Given the description of an element on the screen output the (x, y) to click on. 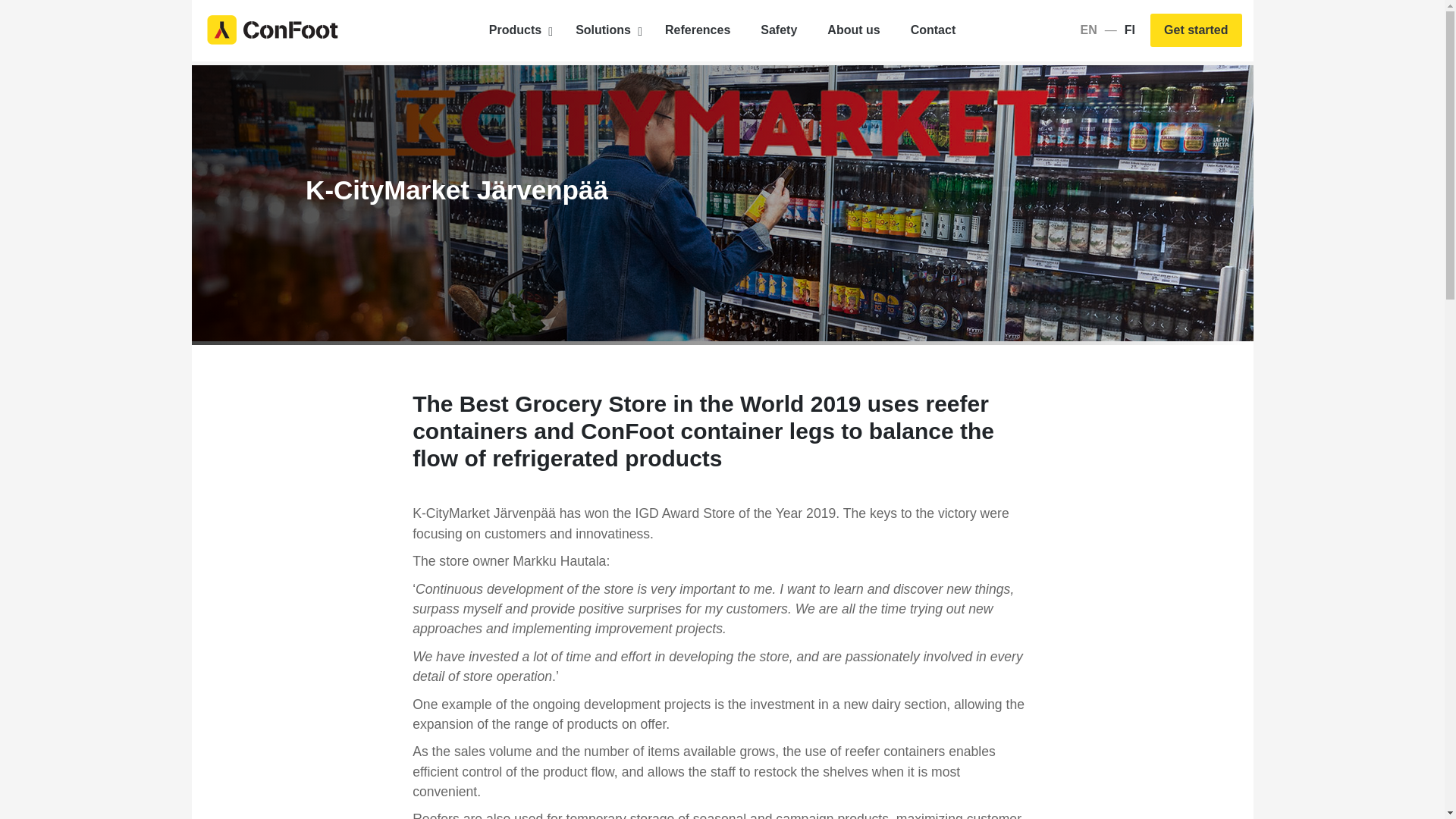
References (697, 30)
About us (722, 30)
Confoot (853, 30)
Safety (272, 29)
Contact (778, 30)
Get started (933, 30)
